Given the description of an element on the screen output the (x, y) to click on. 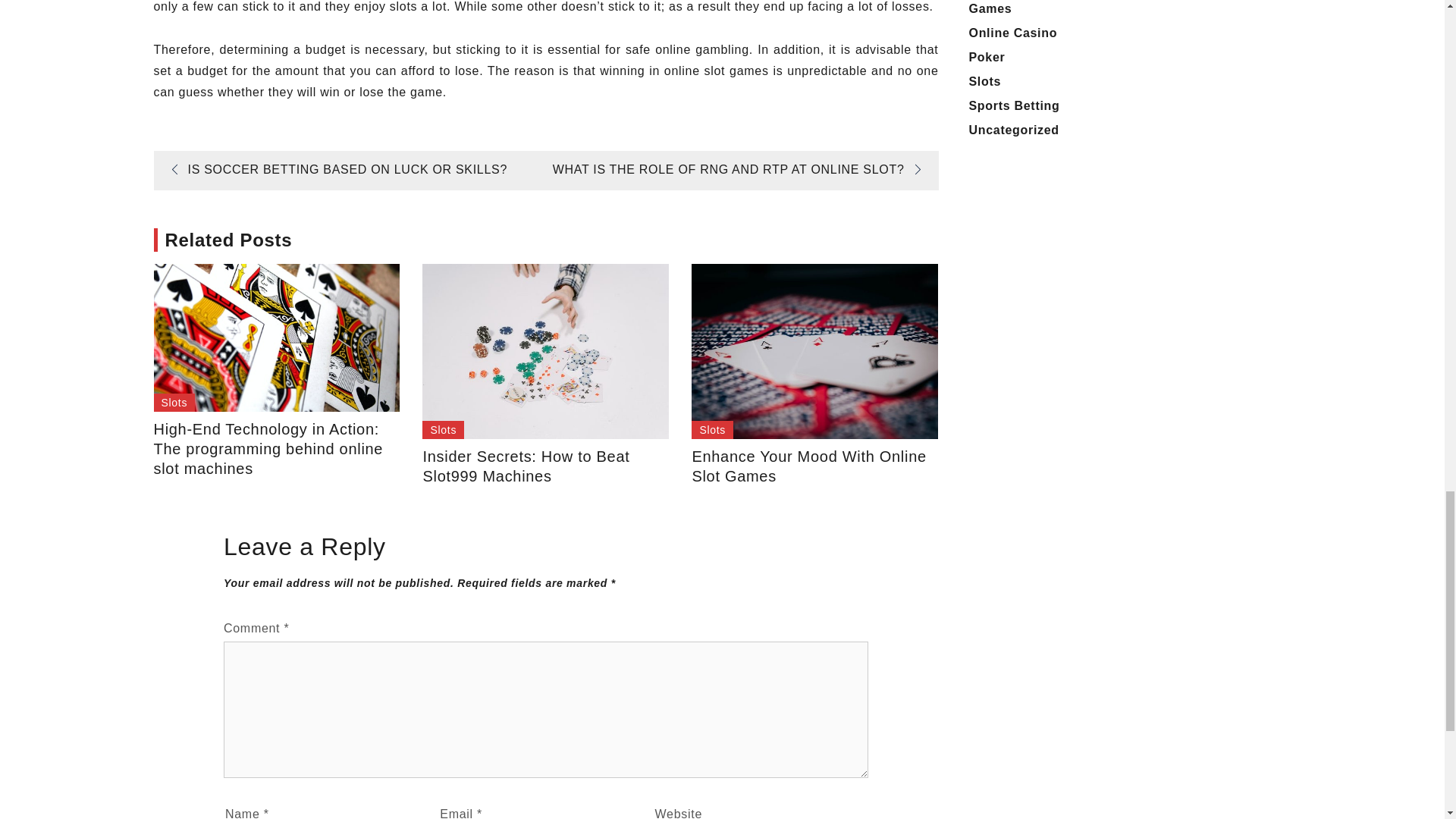
Insider Secrets: How to Beat Slot999 Machines (545, 466)
WHAT IS THE ROLE OF RNG AND RTP AT ONLINE SLOT? (742, 169)
IS SOCCER BETTING BASED ON LUCK OR SKILLS? (333, 169)
Slots (173, 402)
Slots (443, 429)
Slots (712, 429)
Enhance Your Mood With Online Slot Games (814, 466)
